Given the description of an element on the screen output the (x, y) to click on. 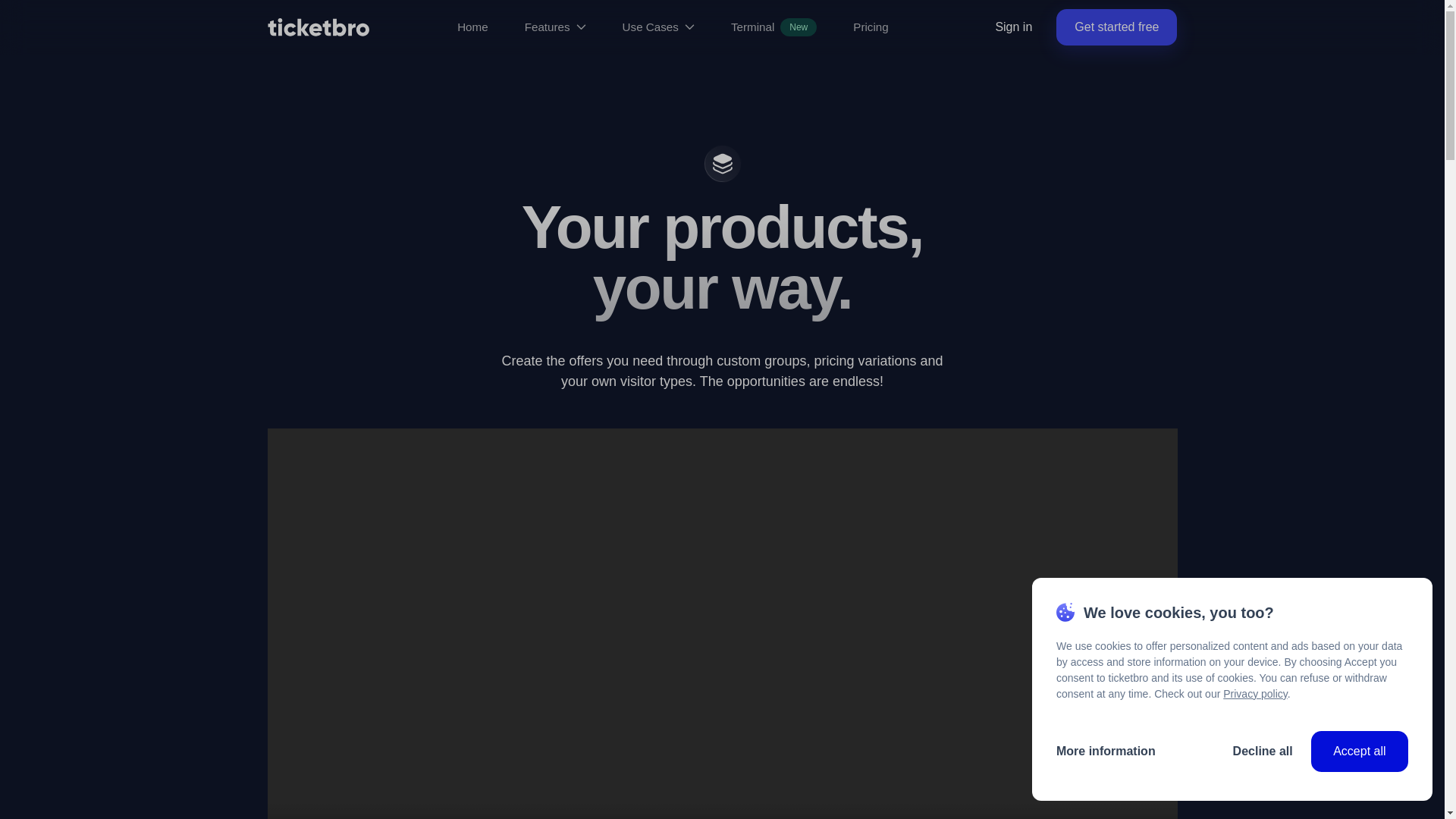
Pricing (870, 27)
Home (472, 27)
Terminal (752, 27)
More information (1106, 751)
Decline all (1262, 751)
Privacy policy (1255, 693)
Get started free (1116, 27)
Sign in (1012, 27)
Accept all (1359, 751)
Use Cases (658, 27)
